Given the description of an element on the screen output the (x, y) to click on. 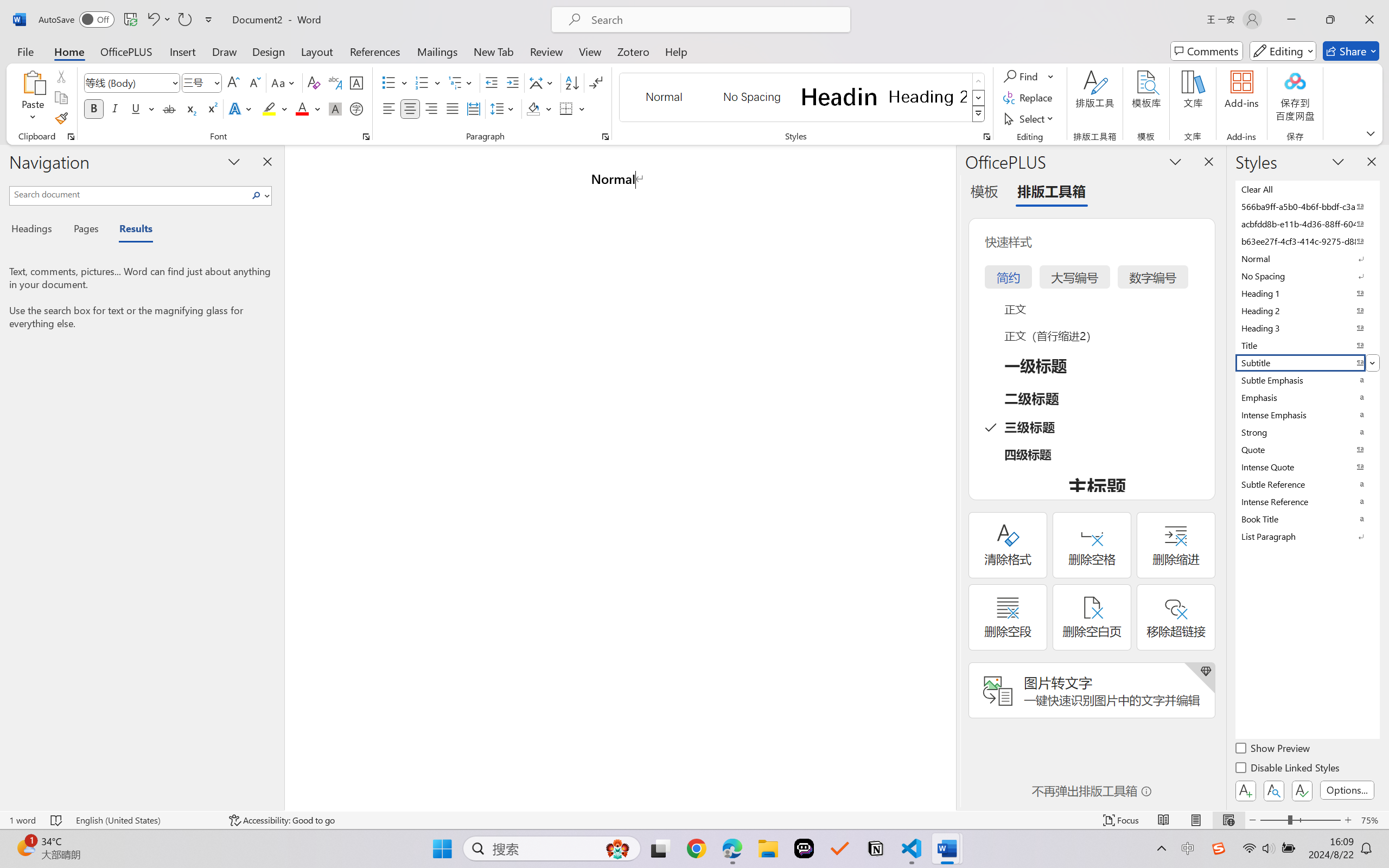
Save (130, 19)
Language English (United States) (144, 819)
Intense Quote (1306, 466)
Shading (539, 108)
Underline (135, 108)
Find (1022, 75)
Font Color (308, 108)
Font Color Red (302, 108)
Zoom (1300, 819)
Search document (128, 193)
Heading 2 (927, 96)
Close (1369, 19)
Subtitle (1306, 362)
